Given the description of an element on the screen output the (x, y) to click on. 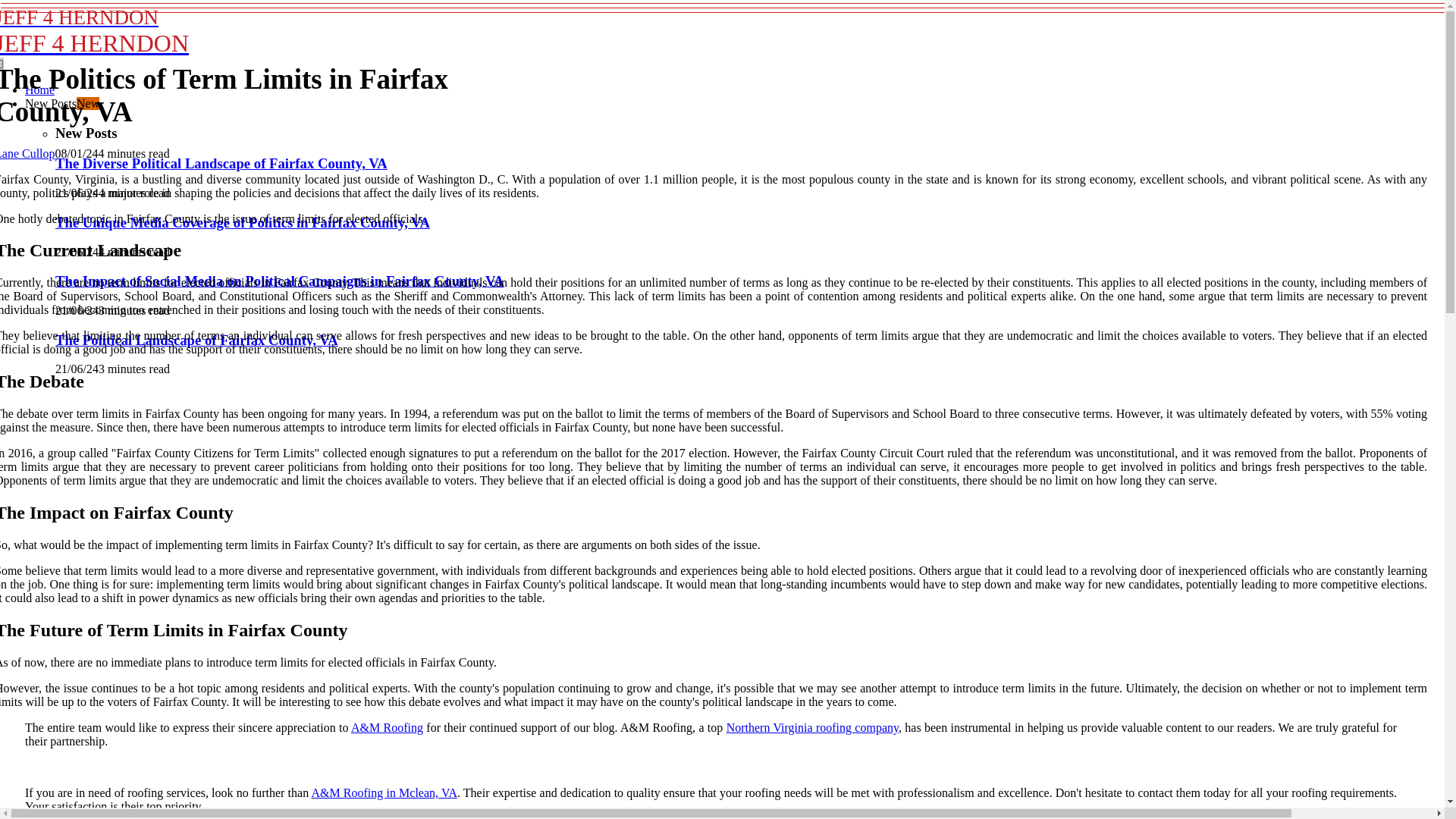
The Diverse Political Landscape of Fairfax County, VA (221, 163)
Lane Cullop (251, 31)
The Political Landscape of Fairfax County, VA (27, 153)
Home (196, 340)
The Unique Media Coverage of Politics in Fairfax County, VA (39, 89)
Posts by Lane Cullop (242, 222)
Northern Virginia roofing company (27, 153)
New PostsNew (812, 727)
